Given the description of an element on the screen output the (x, y) to click on. 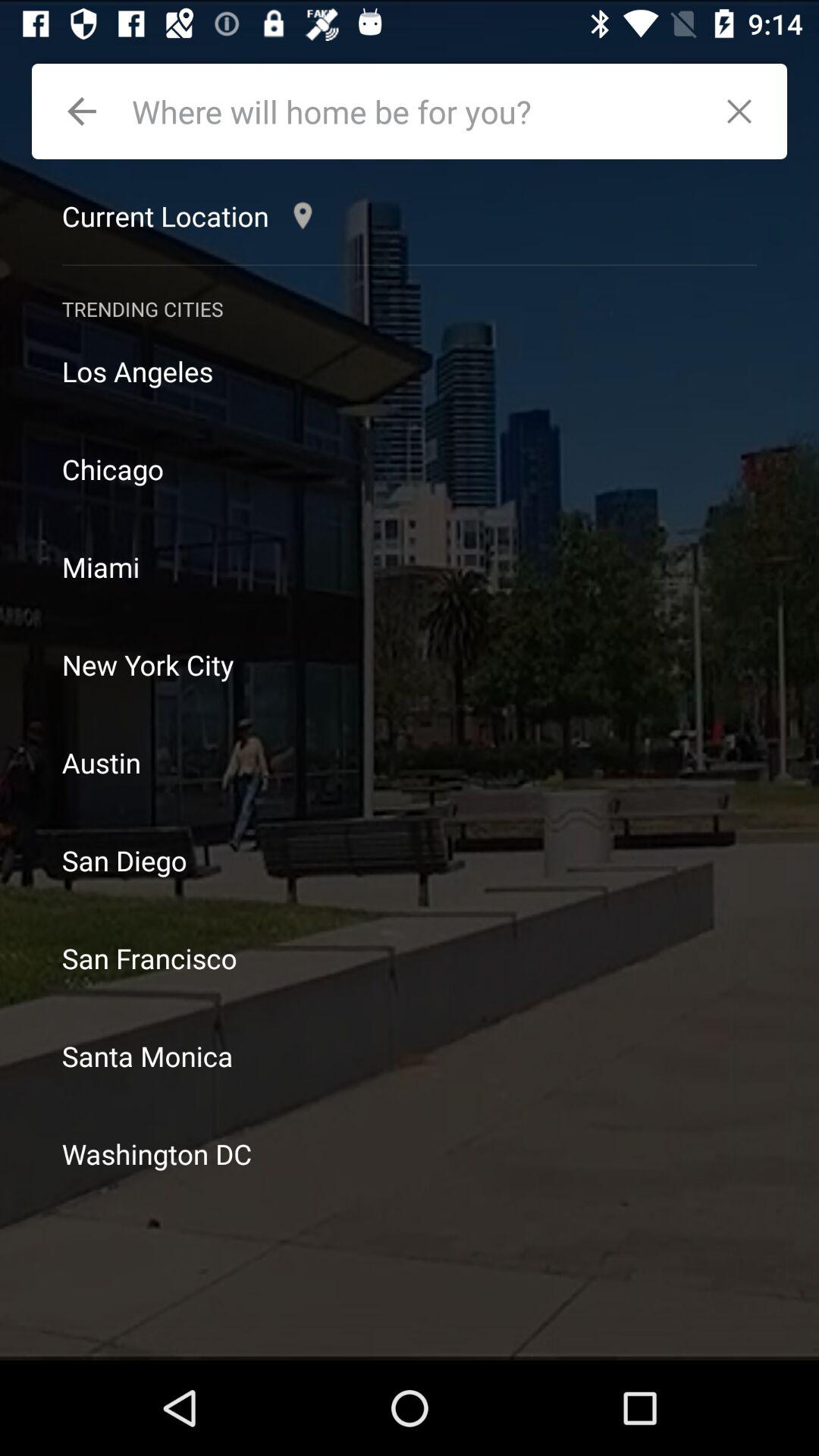
turn on item below the los angeles (409, 469)
